Given the description of an element on the screen output the (x, y) to click on. 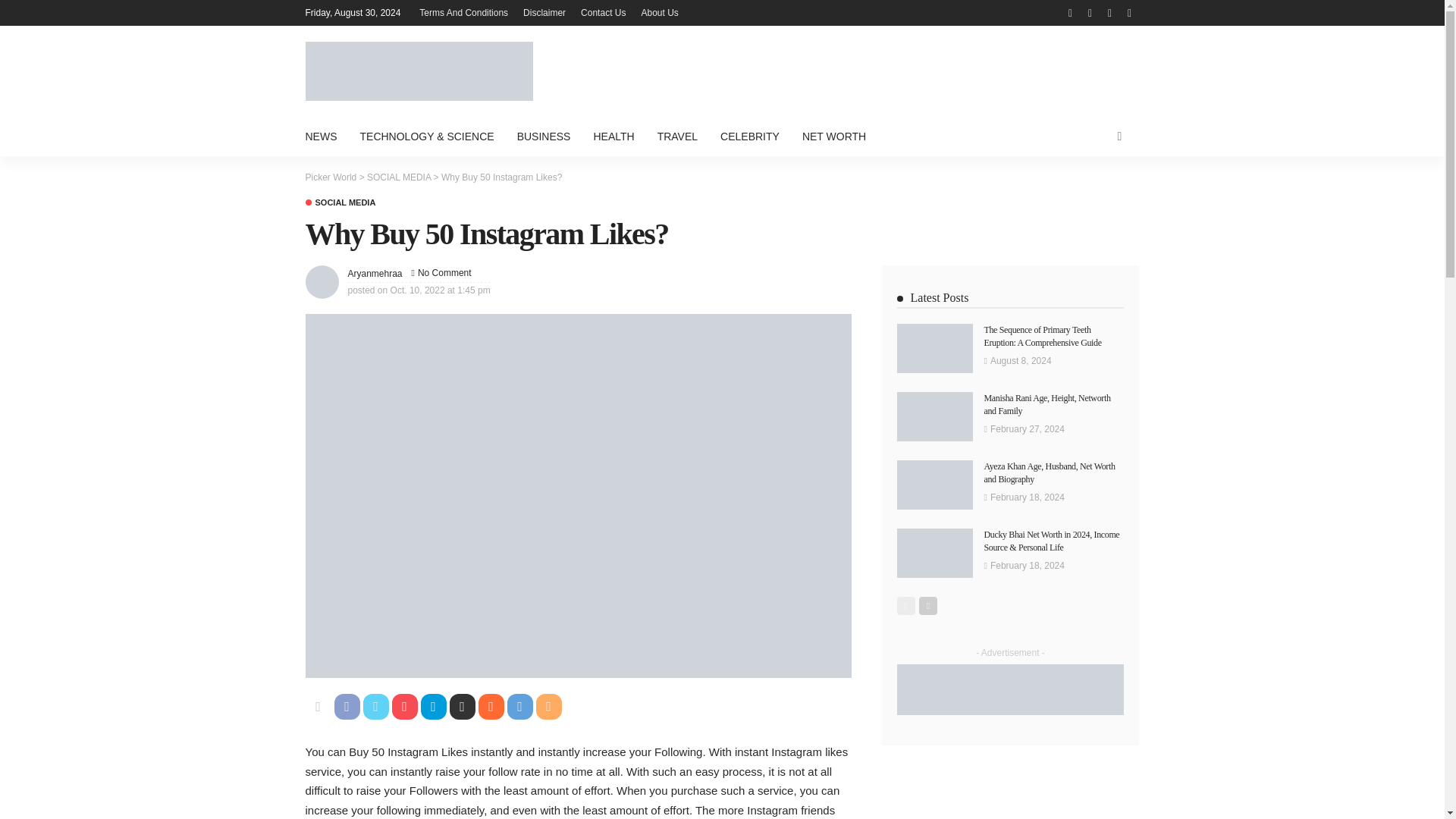
BUSINESS (543, 136)
About Us (659, 12)
CELEBRITY (749, 136)
No Comment (444, 272)
search (1118, 136)
NEWS (325, 136)
SOCIAL MEDIA (339, 203)
HEALTH (612, 136)
Aryanmehraa (374, 273)
Why Buy 50 Instagram Likes? (444, 272)
